Given the description of an element on the screen output the (x, y) to click on. 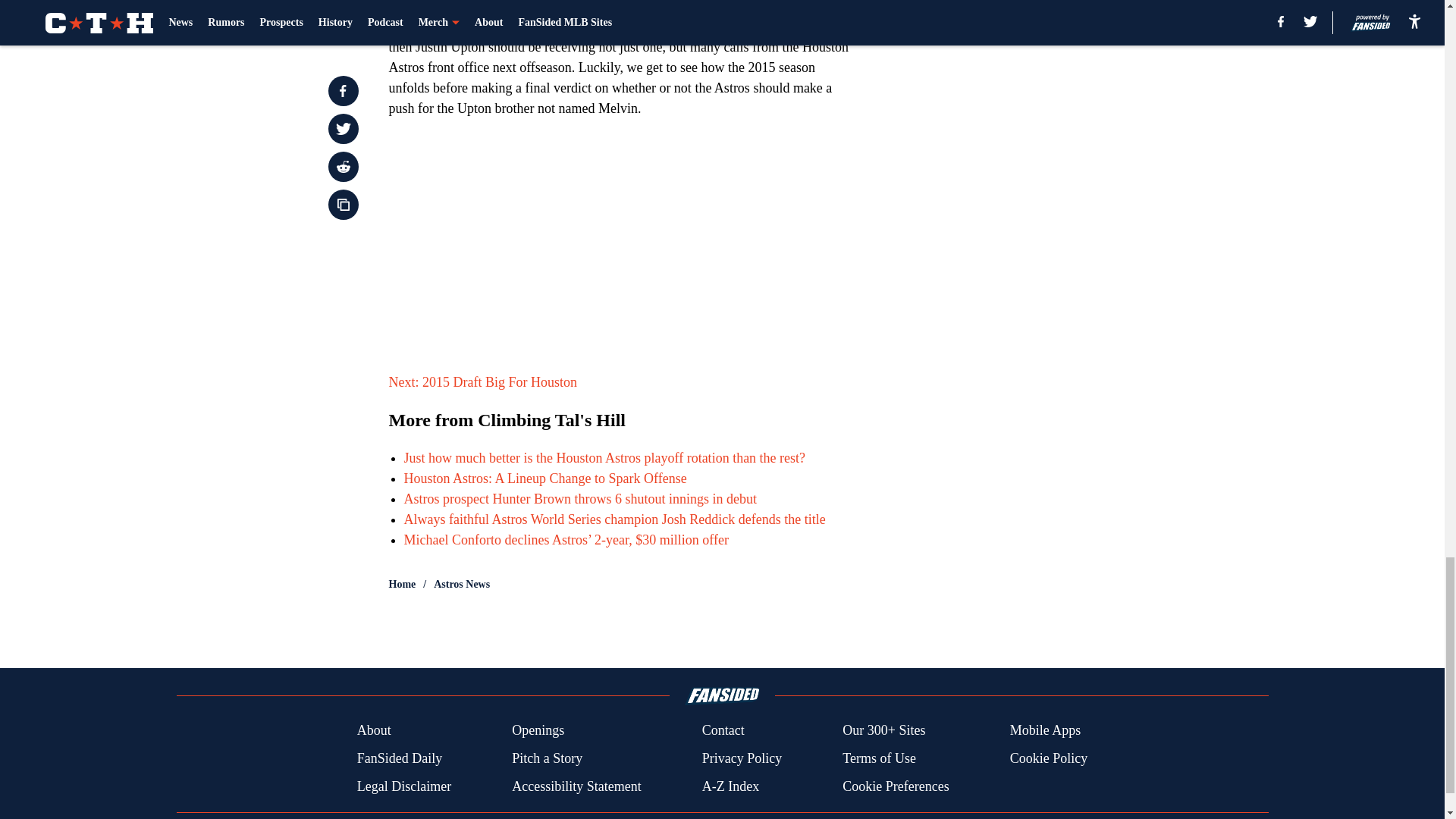
About (373, 730)
Houston Astros: A Lineup Change to Spark Offense (544, 478)
Home (401, 584)
Astros News (461, 584)
Next: 2015 Draft Big For Houston (482, 381)
